Given the description of an element on the screen output the (x, y) to click on. 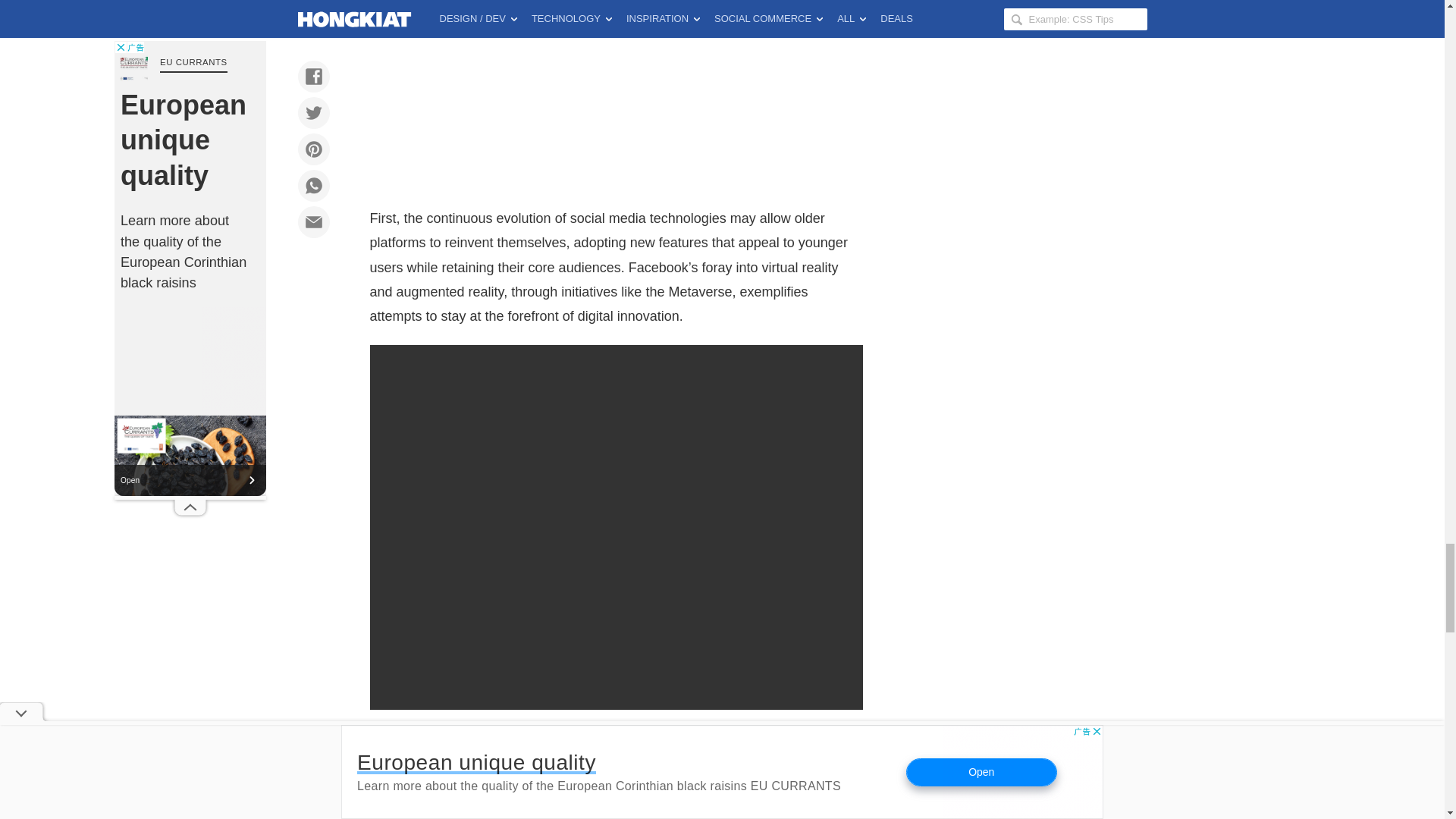
Future Marketing (483, 746)
